Given the description of an element on the screen output the (x, y) to click on. 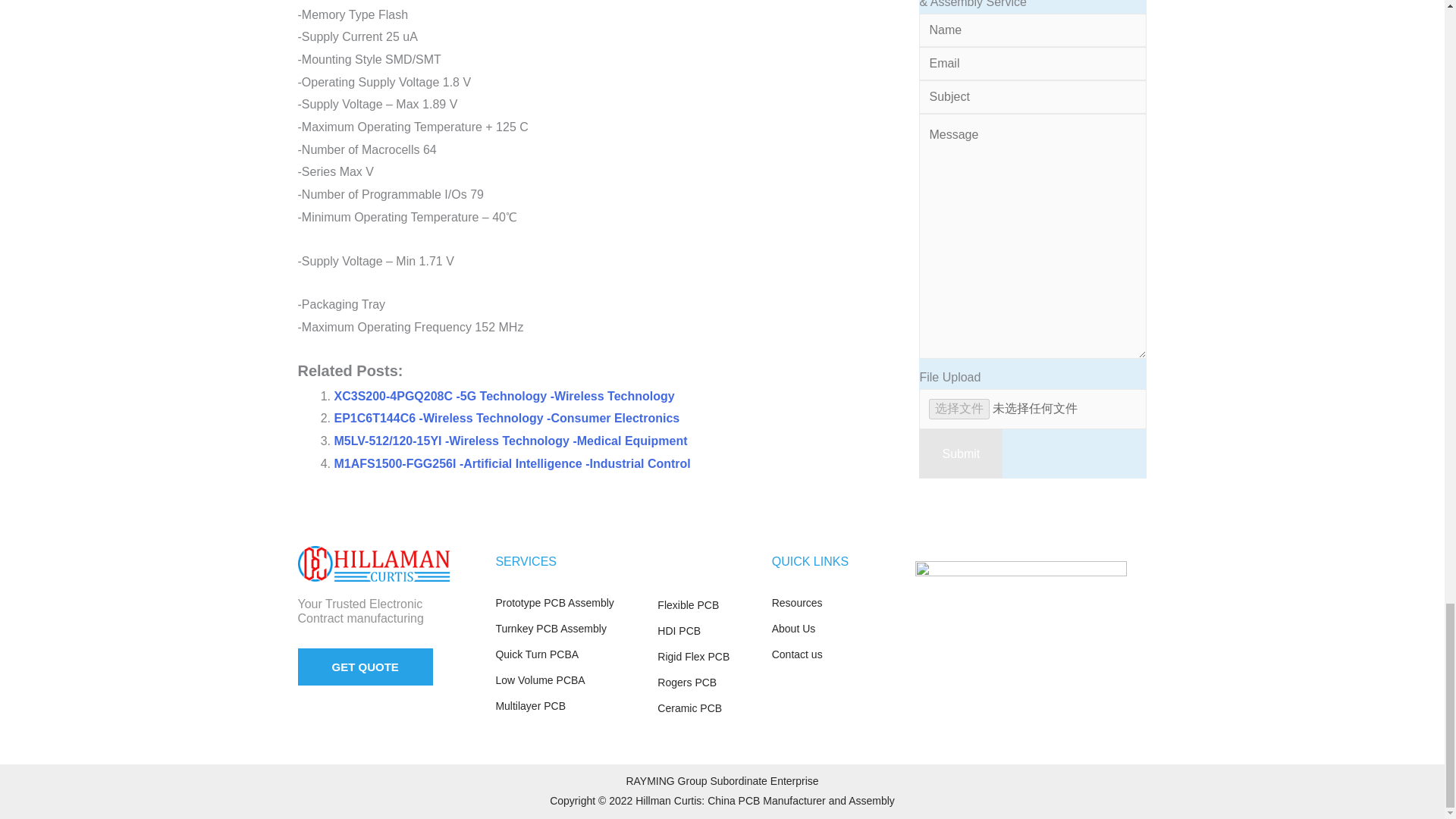
XC3S200-4PGQ208C -5G Technology -Wireless Technology (503, 395)
Multilayer PCB (568, 706)
Flexible PCB (706, 605)
EP1C6T144C6 -Wireless Technology -Consumer Electronics (506, 418)
EP1C6T144C6 -Wireless Technology -Consumer Electronics (506, 418)
Turnkey PCB Assembly (568, 629)
Prototype PCB Assembly (568, 603)
Quick Turn PCBA (568, 655)
XC3S200-4PGQ208C -5G Technology -Wireless Technology (503, 395)
